Given the description of an element on the screen output the (x, y) to click on. 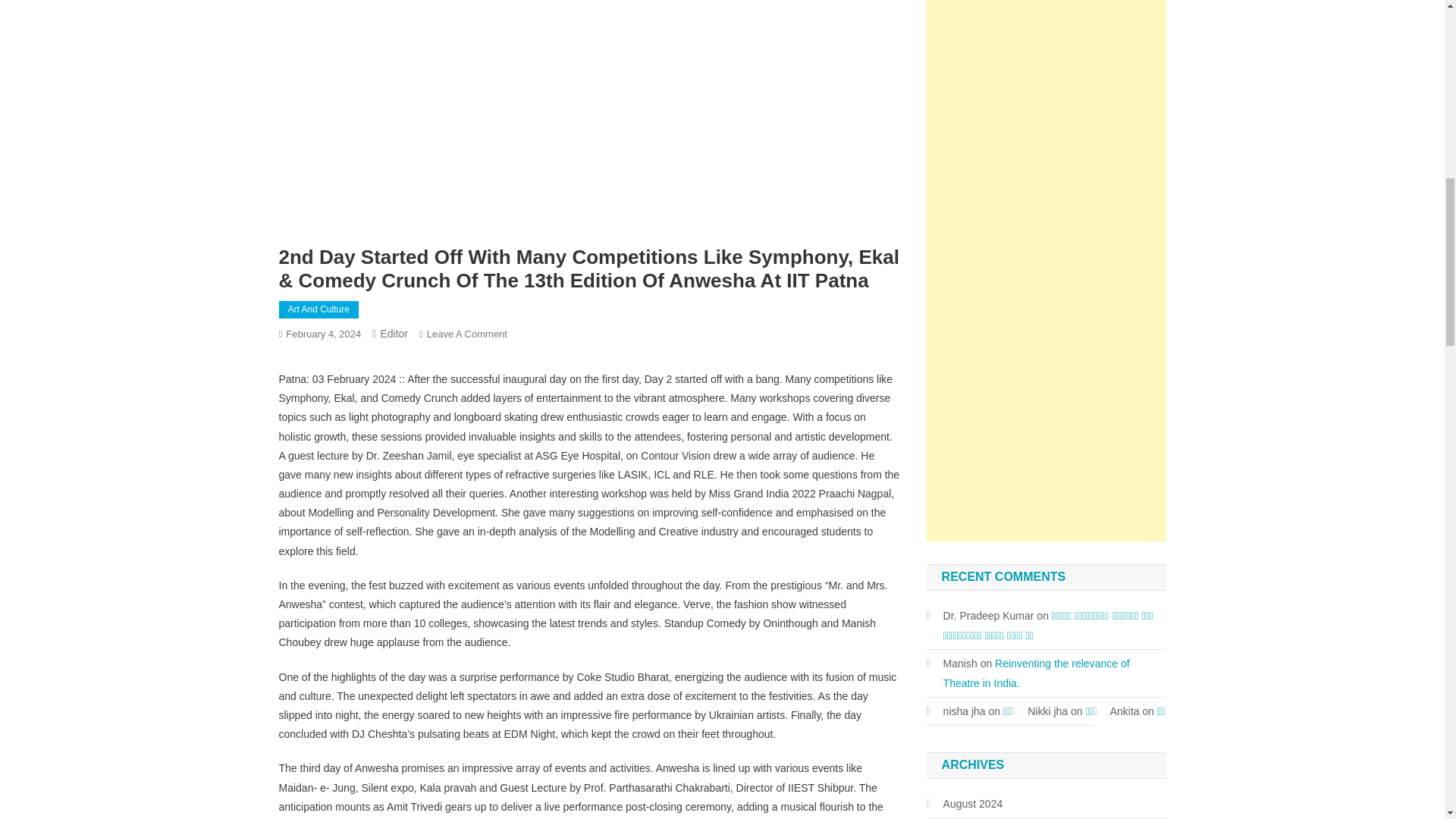
February 4, 2024 (323, 333)
Art And Culture (318, 310)
Editor (393, 333)
